Given the description of an element on the screen output the (x, y) to click on. 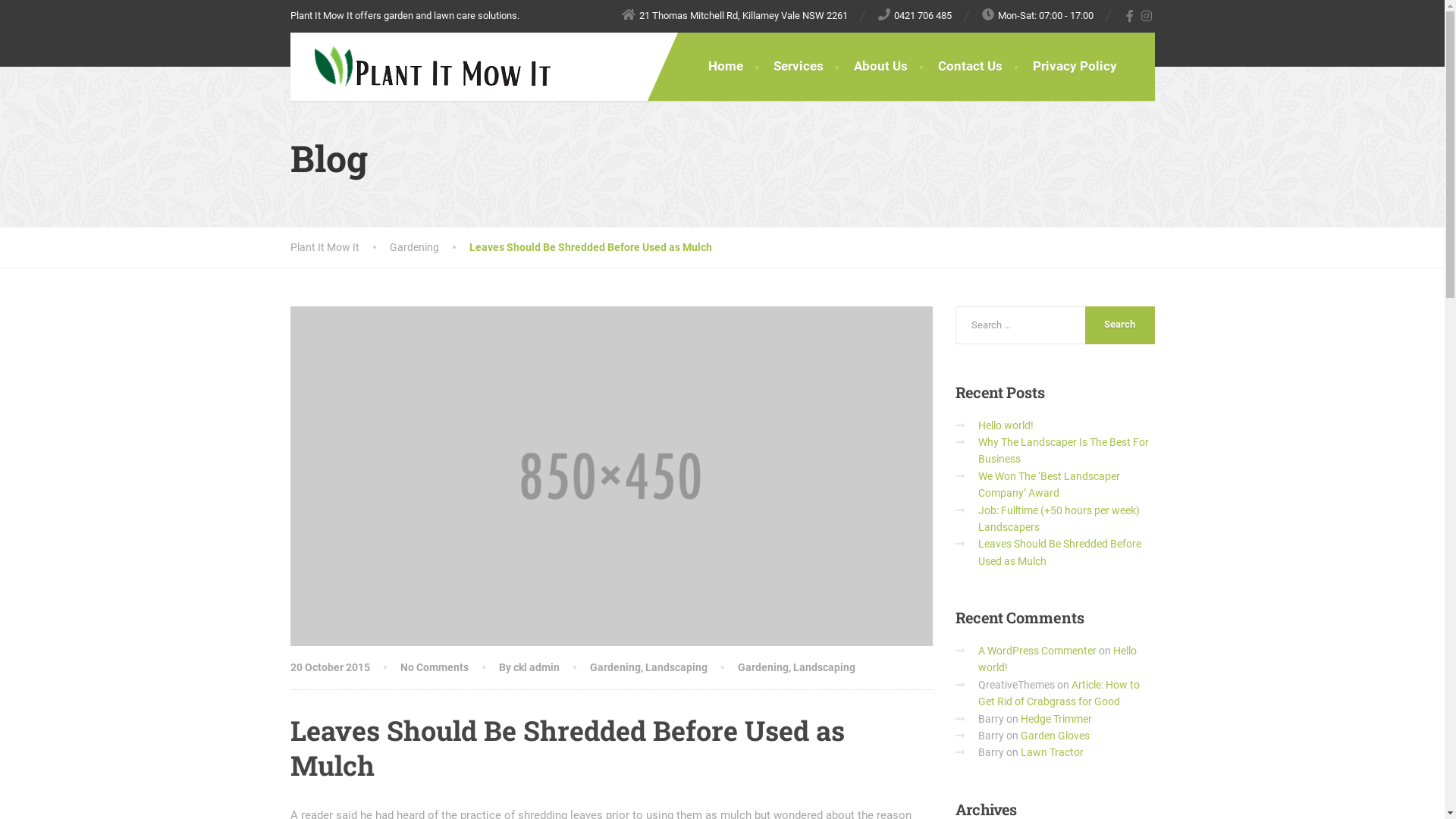
Job: Fulltime (+50 hours per week) Landscapers Element type: text (1058, 518)
Plant It Mow It Element type: hover (420, 66)
Leaves Should Be Shredded Before Used as Mulch Element type: text (1059, 551)
Services Element type: text (798, 66)
Hedge Trimmer Element type: text (1056, 718)
No Comments Element type: text (434, 667)
Gardening Element type: text (614, 667)
Hello world! Element type: text (1005, 425)
Hello world! Element type: text (1057, 658)
Gardening Element type: text (429, 246)
Article: How to Get Rid of Crabgrass for Good Element type: text (1058, 692)
Garden Gloves Element type: text (1054, 735)
Search Element type: text (1119, 325)
Plant It Mow It Element type: text (339, 246)
A WordPress Commenter Element type: text (1037, 650)
Gardening Element type: text (762, 667)
Lawn Tractor Element type: text (1051, 752)
Home Element type: text (725, 66)
Landscaping Element type: text (824, 667)
About Us Element type: text (880, 66)
0421 706 485 Element type: text (914, 15)
Contact Us Element type: text (969, 66)
Landscaping Element type: text (675, 667)
Why The Landscaper Is The Best For Business Element type: text (1063, 450)
Privacy Policy Element type: text (1074, 66)
